Given the description of an element on the screen output the (x, y) to click on. 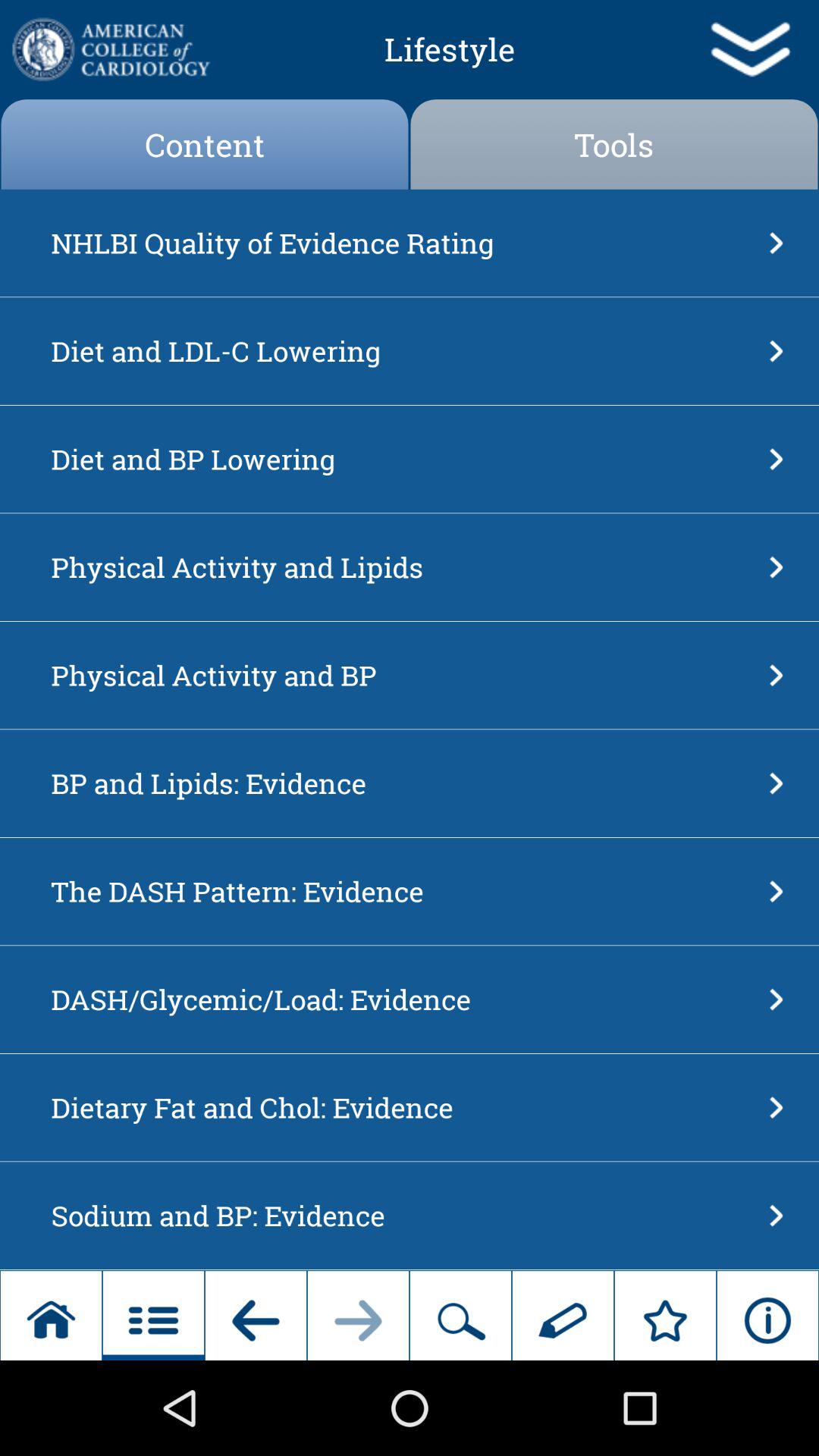
choose dash glycemic load icon (405, 999)
